Given the description of an element on the screen output the (x, y) to click on. 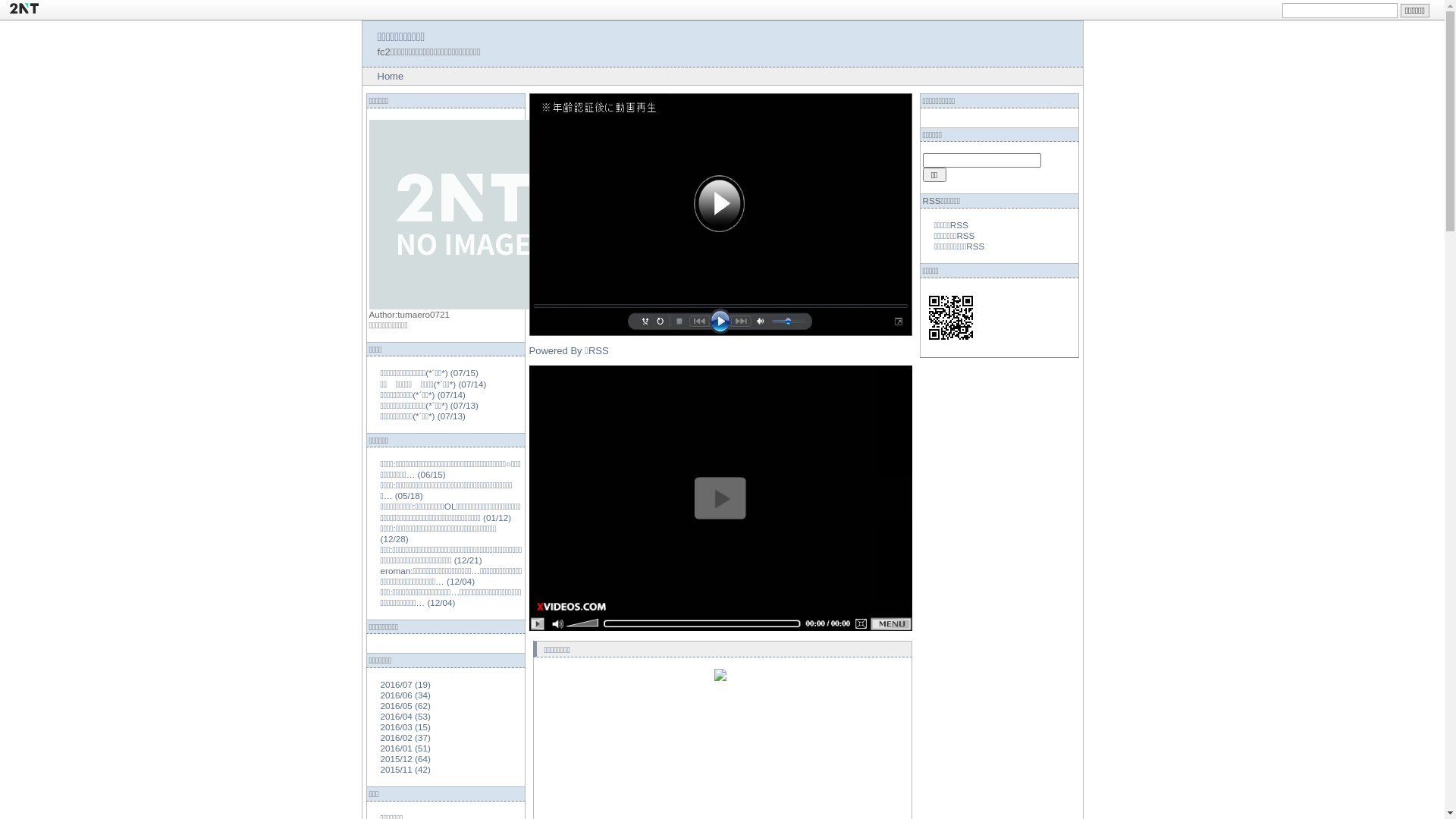
2016/02 (37) Element type: text (405, 737)
2016/05 (62) Element type: text (405, 705)
2016/01 (51) Element type: text (405, 748)
2015/12 (64) Element type: text (405, 758)
2015/11 (42) Element type: text (405, 769)
2016/07 (19) Element type: text (405, 684)
Home Element type: text (390, 75)
2016/03 (15) Element type: text (405, 726)
2016/06 (34) Element type: text (405, 694)
2016/04 (53) Element type: text (405, 716)
